Given the description of an element on the screen output the (x, y) to click on. 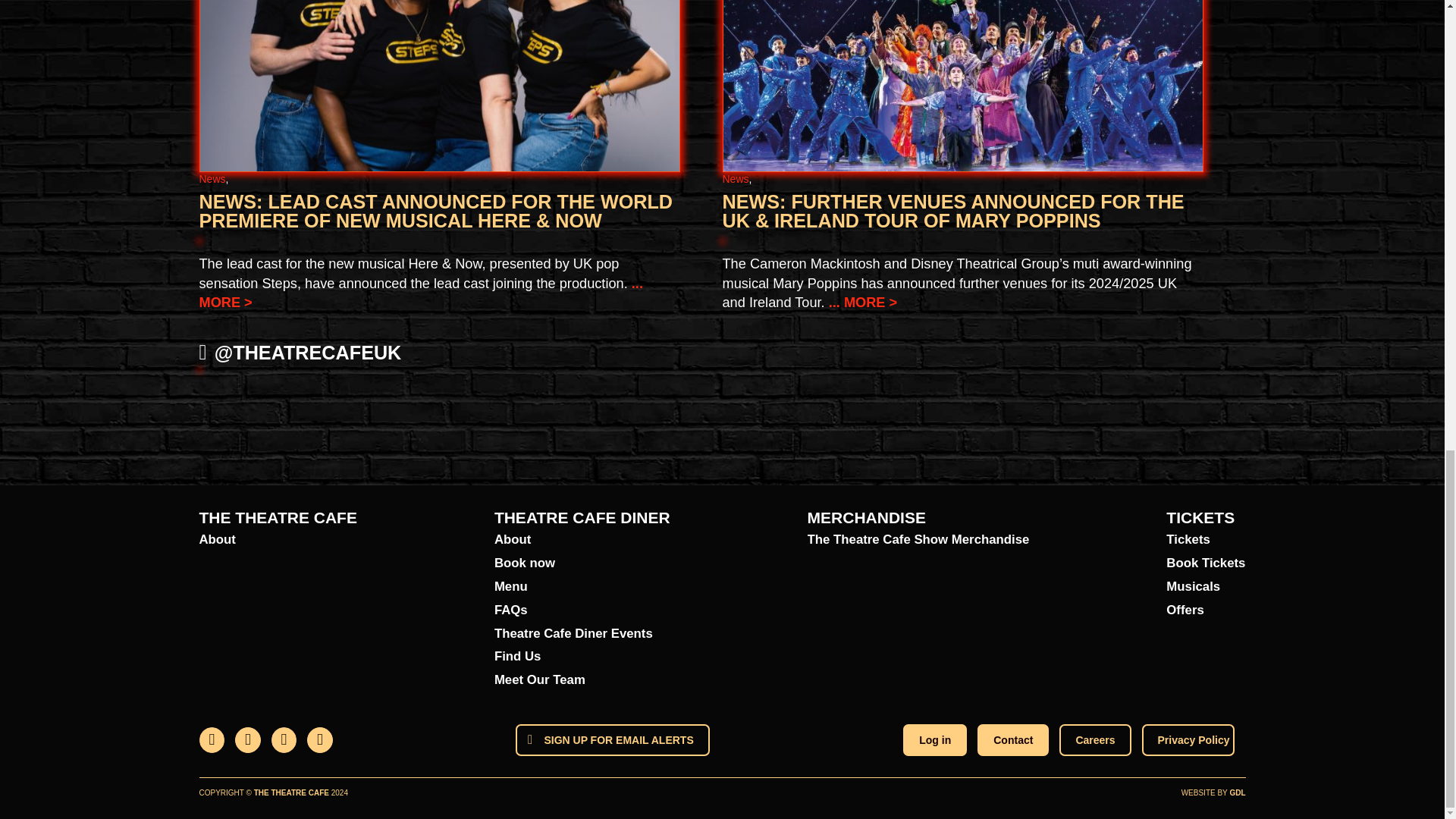
THE THEATRE CAFE (277, 517)
News (735, 178)
News (211, 178)
About (277, 540)
About (582, 540)
